Given the description of an element on the screen output the (x, y) to click on. 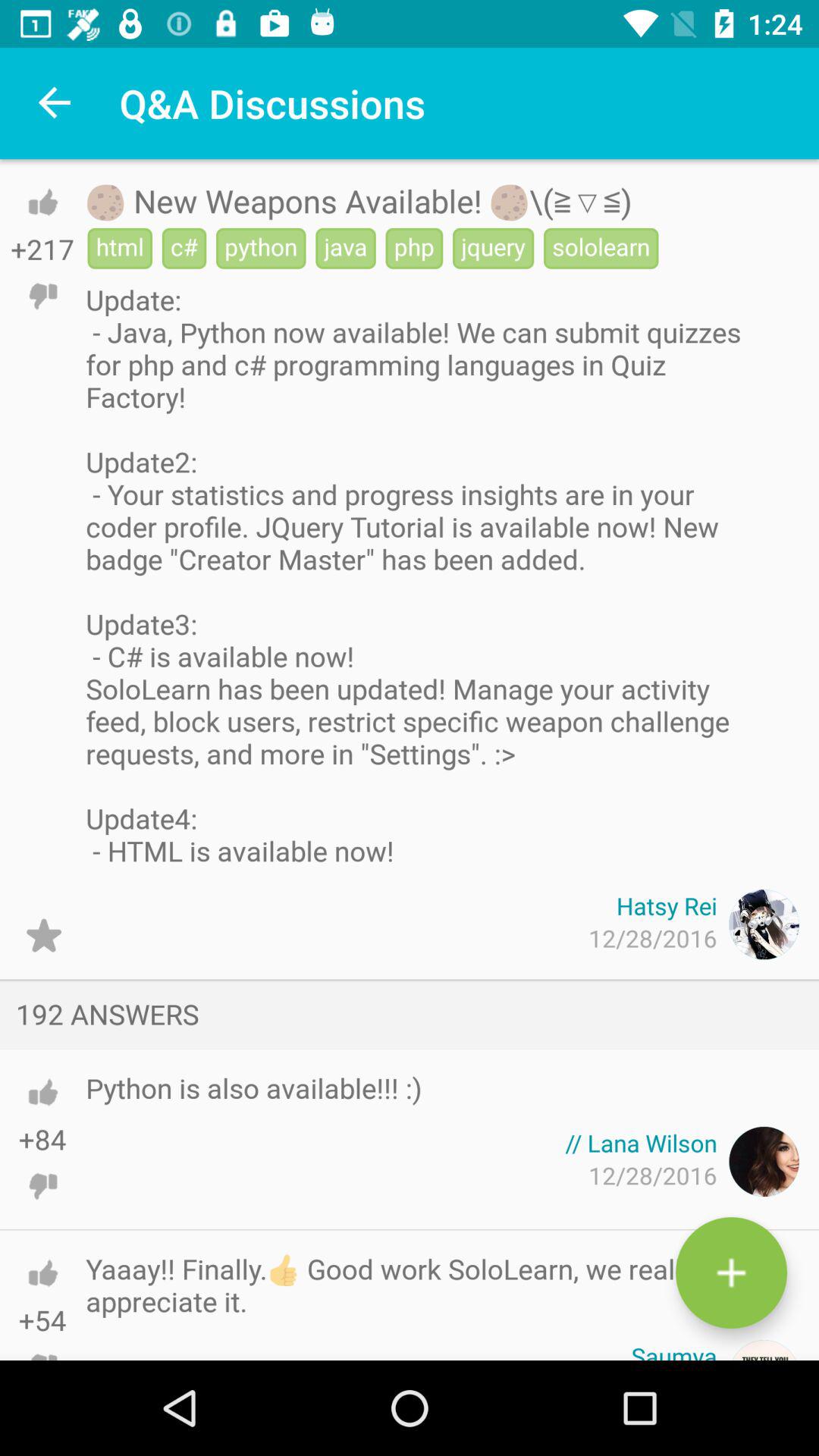
star button (43, 935)
